Given the description of an element on the screen output the (x, y) to click on. 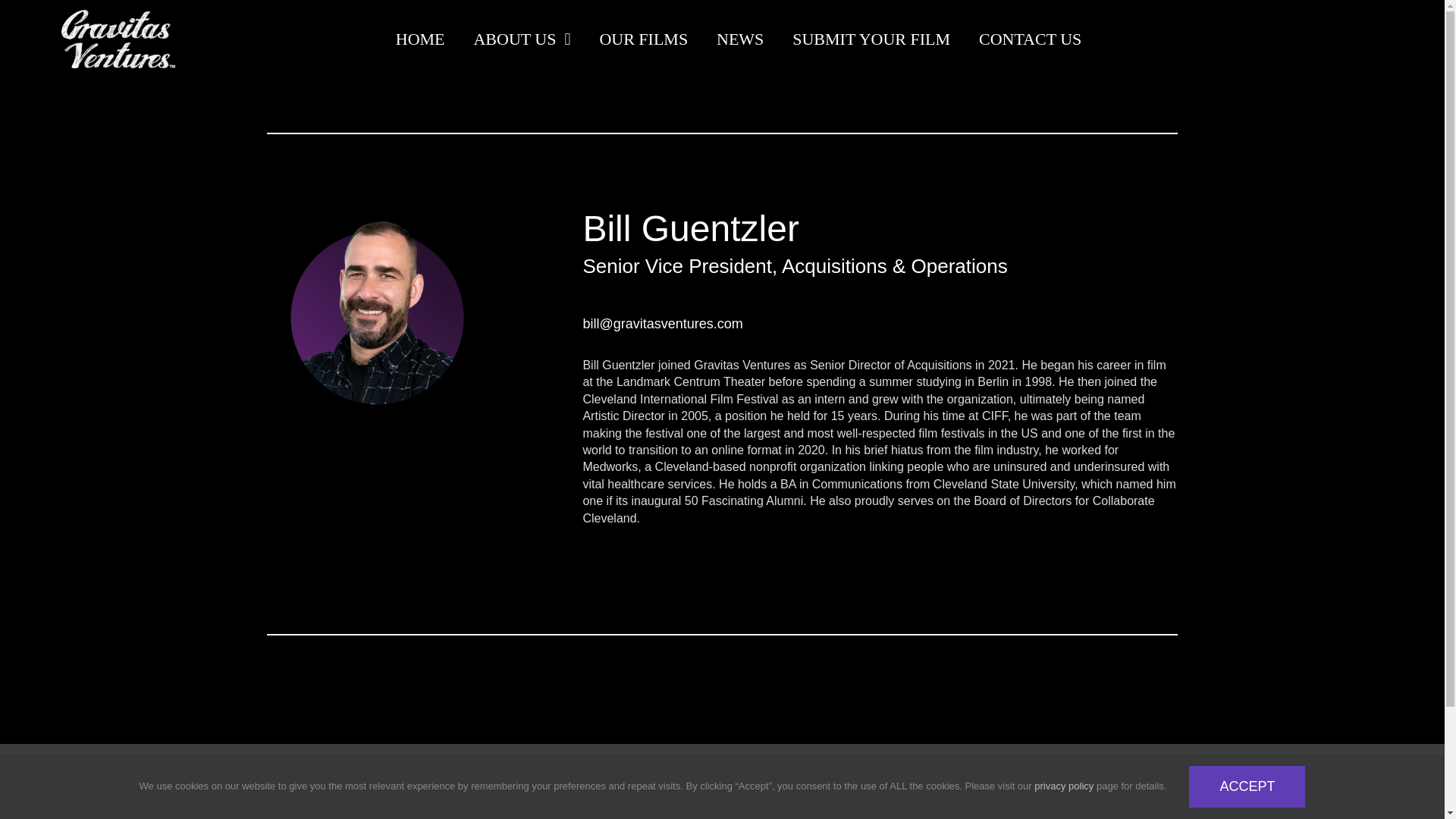
Gravitas Ventures Logo (367, 797)
SUBMIT YOUR FILM (871, 39)
HOME (420, 39)
CONTACT US (1029, 39)
OUR FILMS (642, 39)
ABOUT US (521, 39)
ACCEPT (1246, 786)
NEWS (739, 39)
privacy policy (1063, 785)
